Given the description of an element on the screen output the (x, y) to click on. 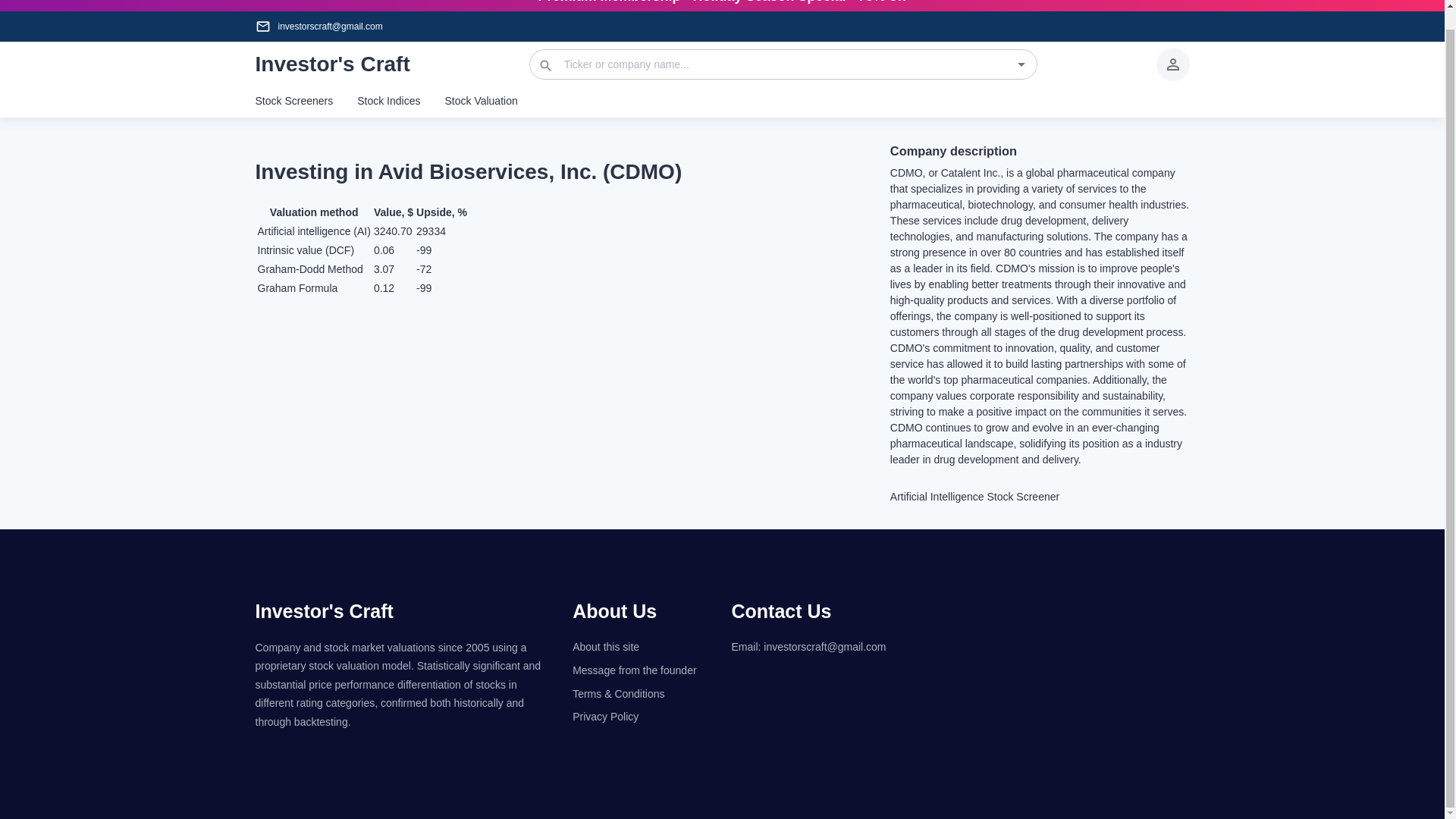
Investor's Craft (323, 610)
Investor's Craft (331, 64)
Open (1021, 64)
Artificial Intelligence Stock Screener (1039, 496)
